Given the description of an element on the screen output the (x, y) to click on. 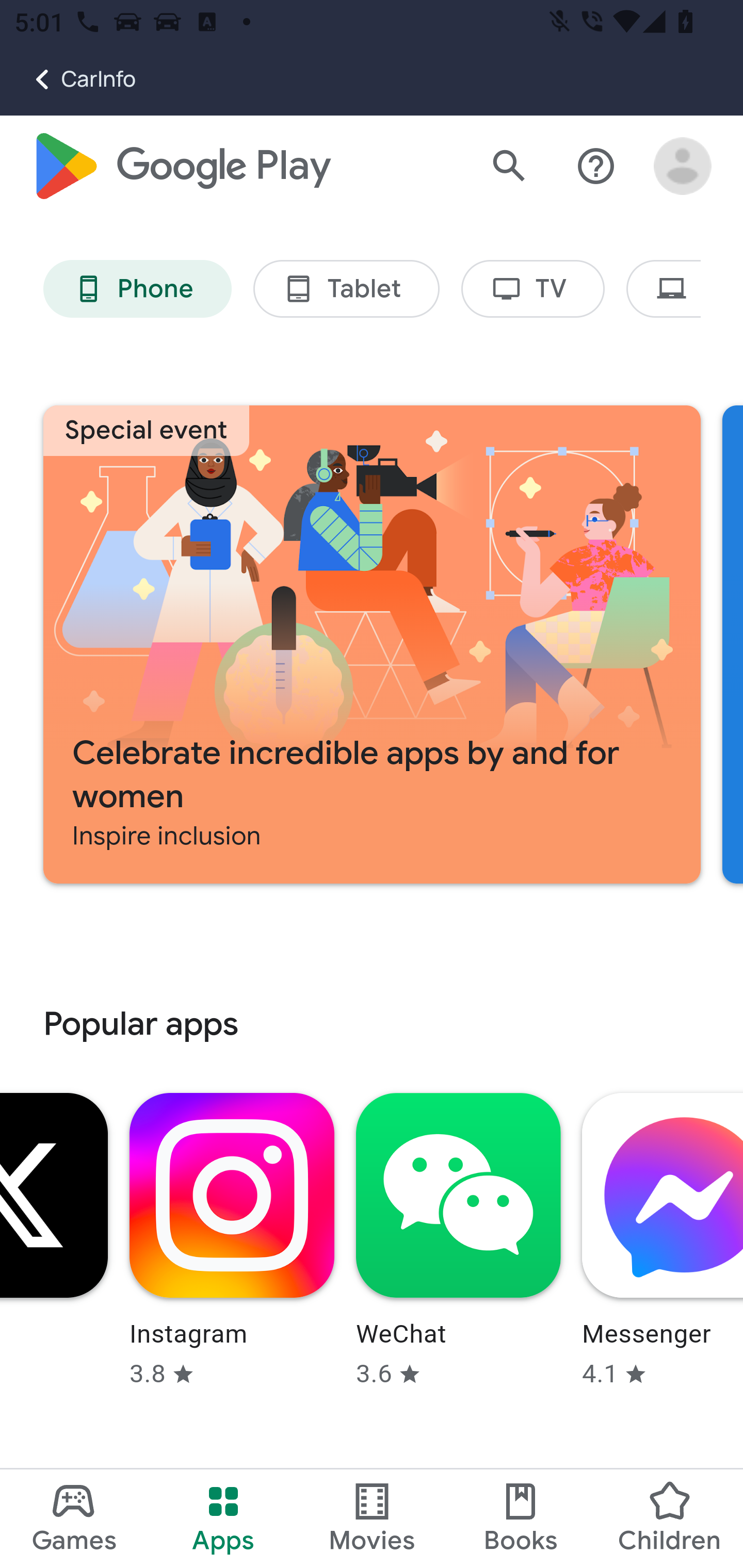
CarInfo (67, 79)
Google Play logo (180, 166)
Search (508, 166)
Help centre (596, 166)
Open account menu (682, 166)
Phone (137, 289)
Tablet (346, 289)
TV (533, 289)
Chromebook (663, 289)
Games (74, 1518)
Apps (222, 1518)
Movies (372, 1518)
Books (520, 1518)
Children (668, 1518)
